Given the description of an element on the screen output the (x, y) to click on. 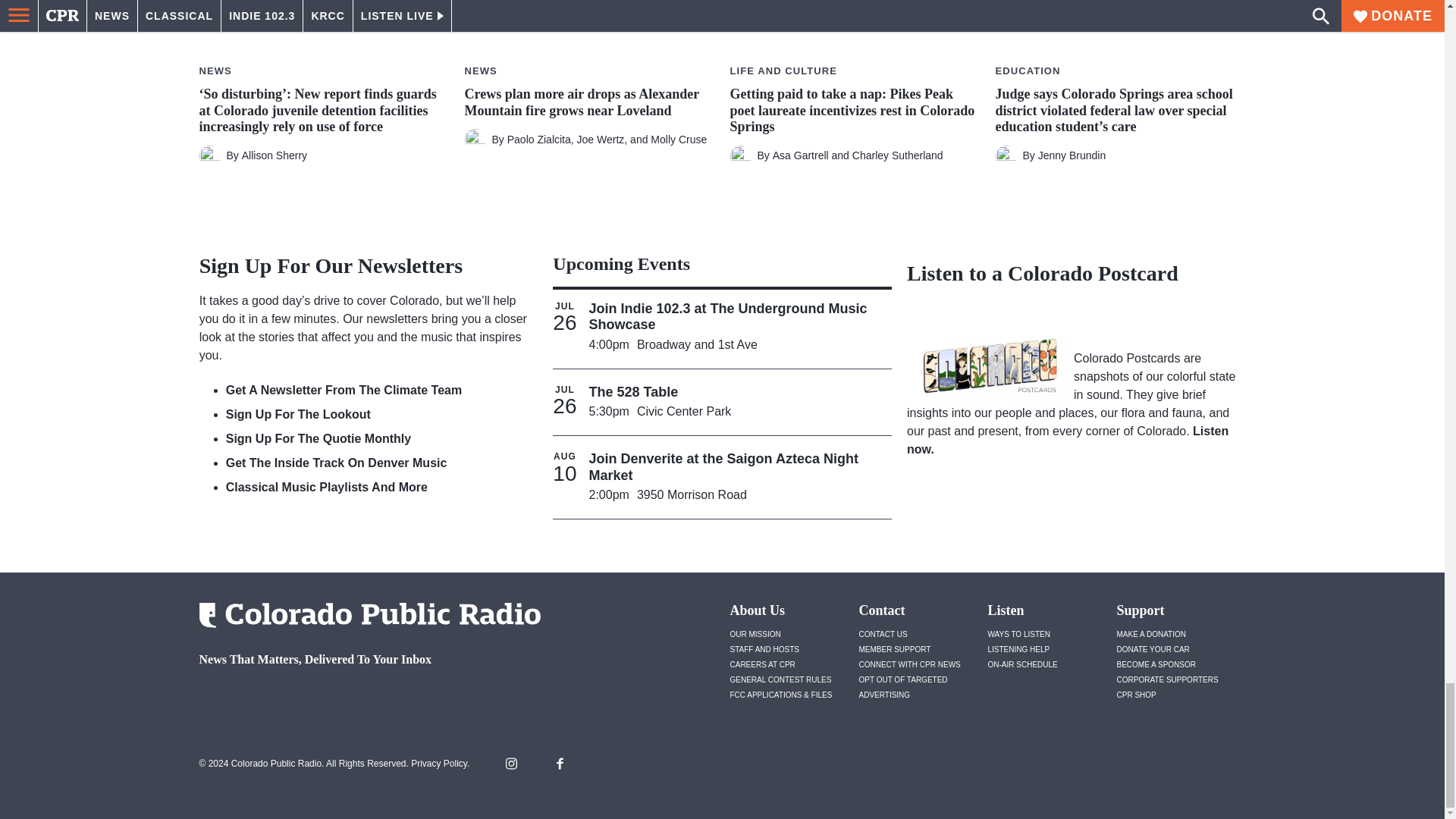
footer (364, 699)
